Given the description of an element on the screen output the (x, y) to click on. 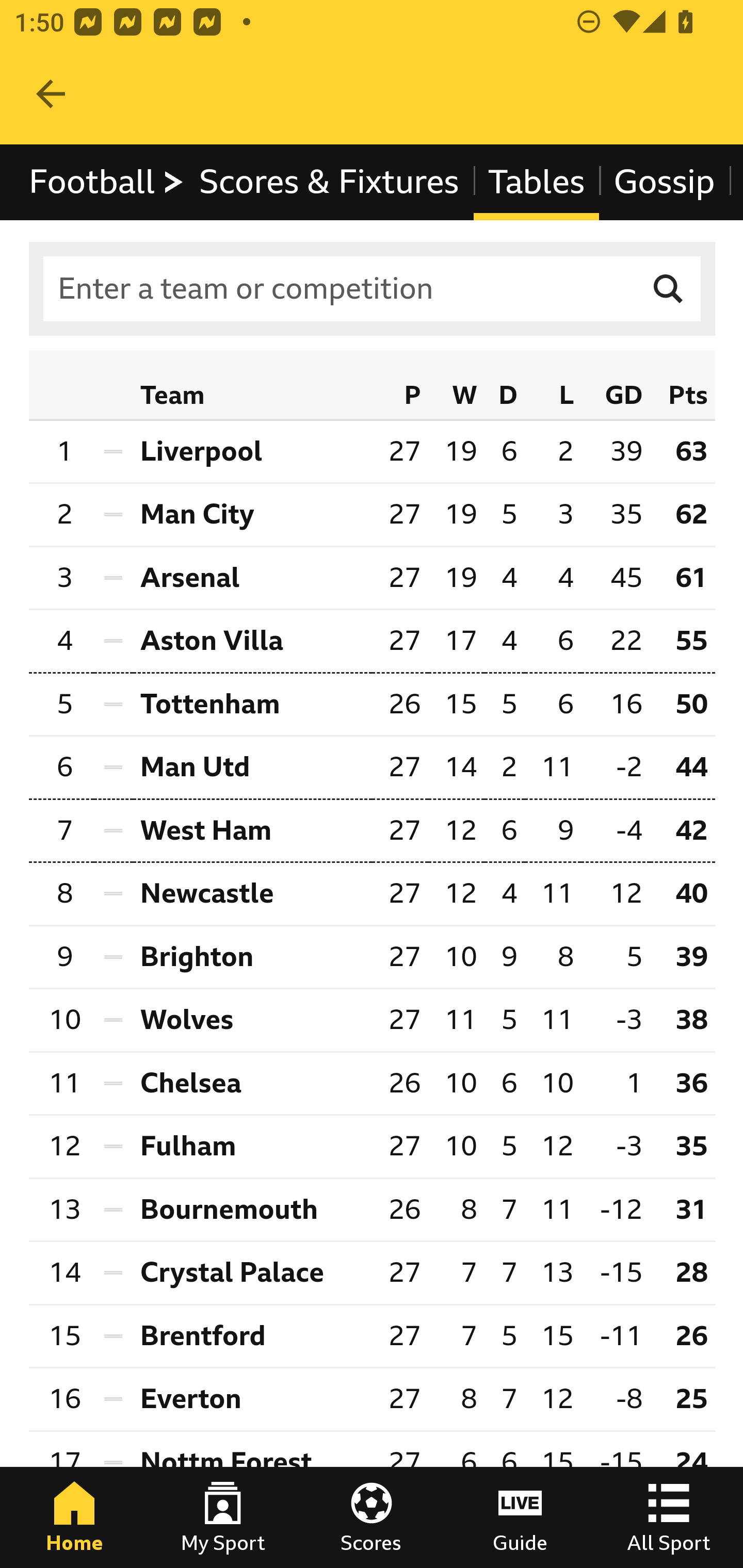
Navigate up (50, 93)
Football  (106, 181)
Scores & Fixtures (329, 181)
Tables (536, 181)
Gossip (664, 181)
Search (669, 289)
Liverpool (252, 450)
Man City Manchester City (252, 514)
Arsenal (252, 577)
Aston Villa (252, 640)
Tottenham Tottenham Hotspur (252, 704)
Man Utd Manchester United (252, 768)
West Ham West Ham United (252, 830)
Newcastle Newcastle United (252, 894)
Brighton Brighton & Hove Albion (252, 957)
Wolves Wolverhampton Wanderers (252, 1020)
Chelsea (252, 1082)
Fulham (252, 1145)
Bournemouth AFC Bournemouth (252, 1209)
Crystal Palace (252, 1271)
Brentford (252, 1335)
Everton (252, 1399)
My Sport (222, 1517)
Scores (371, 1517)
Guide (519, 1517)
All Sport (668, 1517)
